Given the description of an element on the screen output the (x, y) to click on. 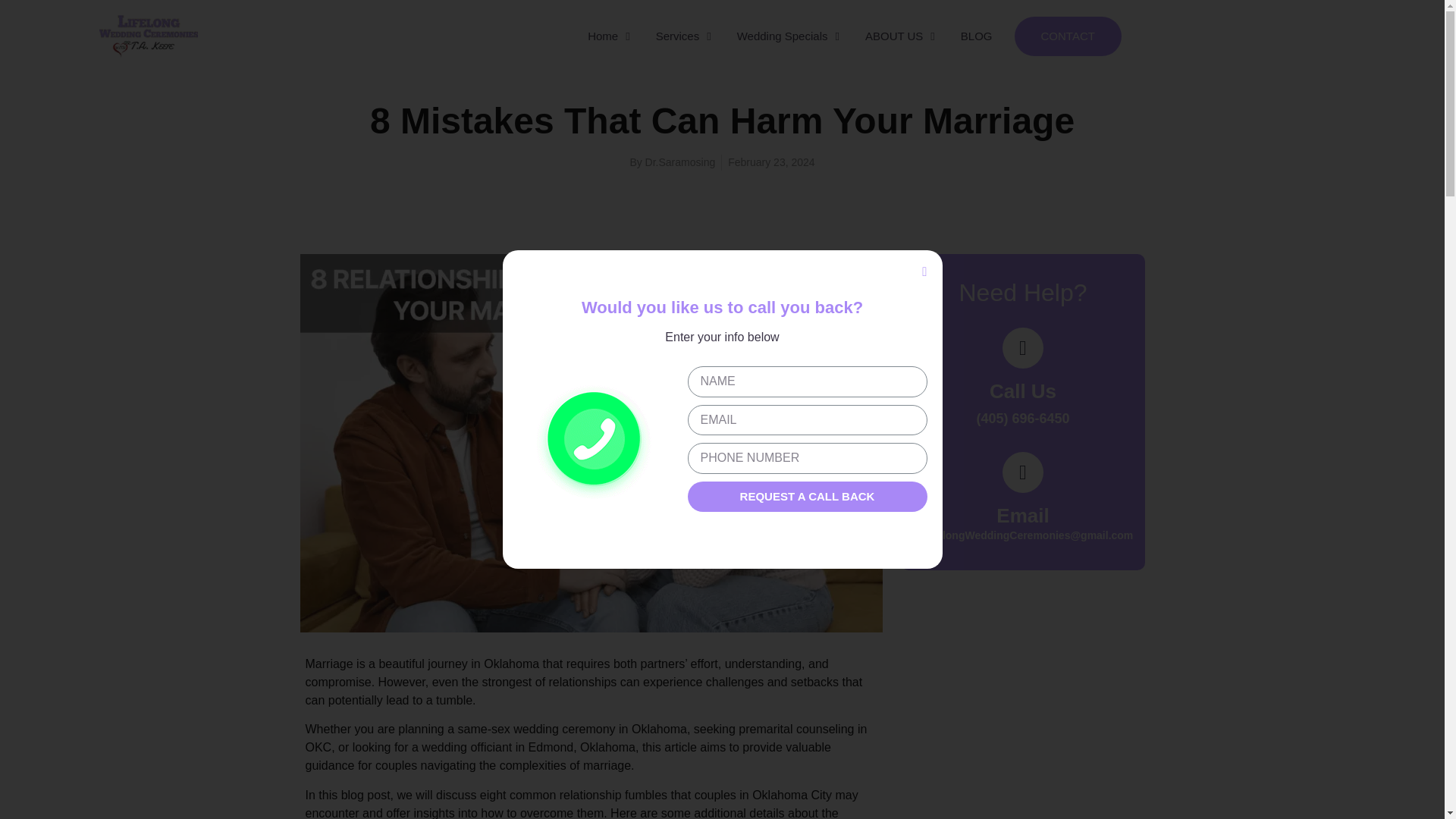
ABOUT US (899, 36)
Wedding Specials (787, 36)
BLOG (976, 36)
Home (609, 36)
CONTACT (1067, 36)
Services (683, 36)
